Given the description of an element on the screen output the (x, y) to click on. 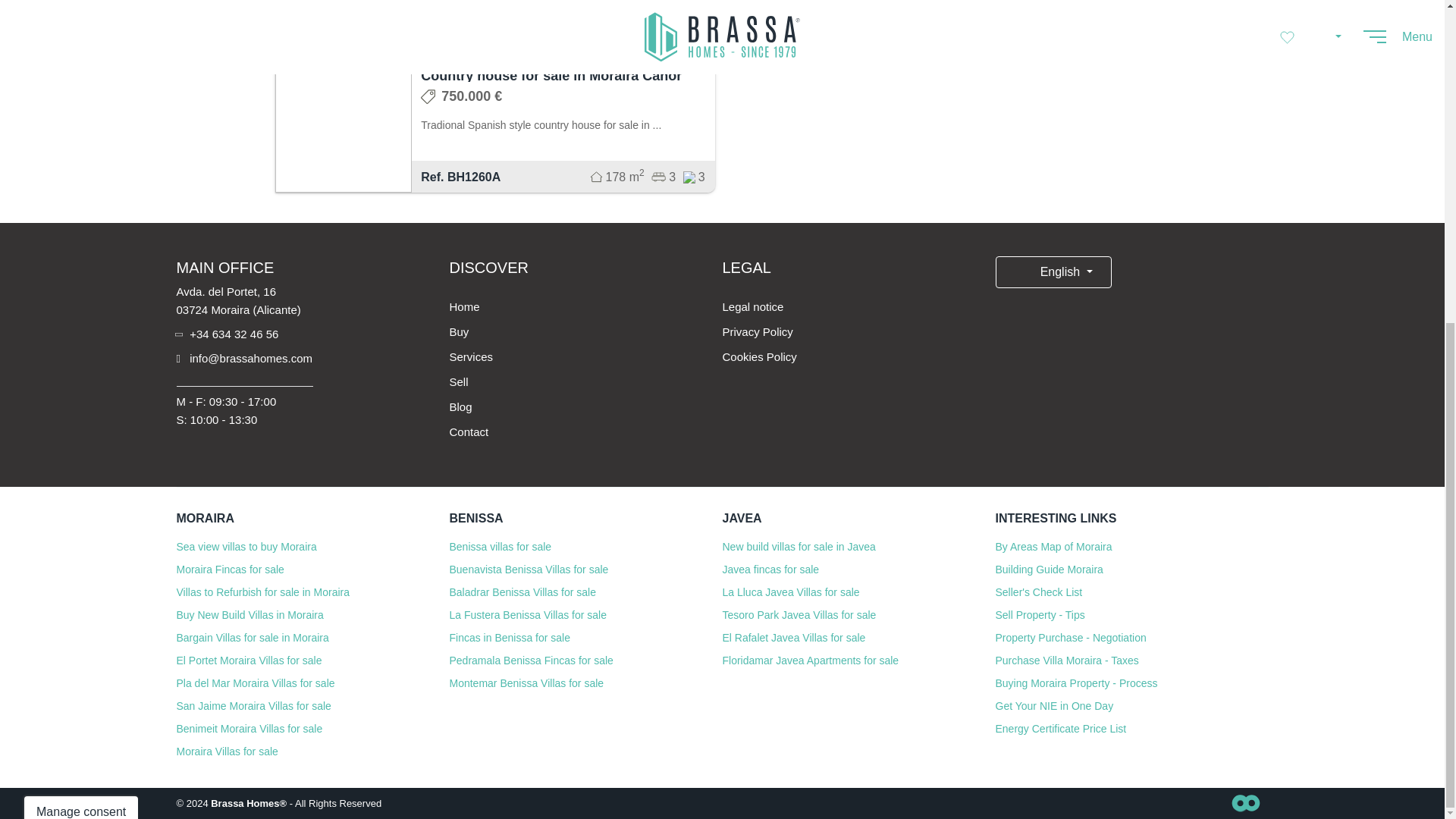
Blog (459, 406)
Software Inmobiliario Sooprema (1245, 802)
Contact (467, 431)
Privacy Policy (757, 331)
Legal notice (752, 306)
Services (470, 356)
Buy (458, 331)
English (1052, 272)
Home (463, 306)
Cookies Policy (759, 356)
